Given the description of an element on the screen output the (x, y) to click on. 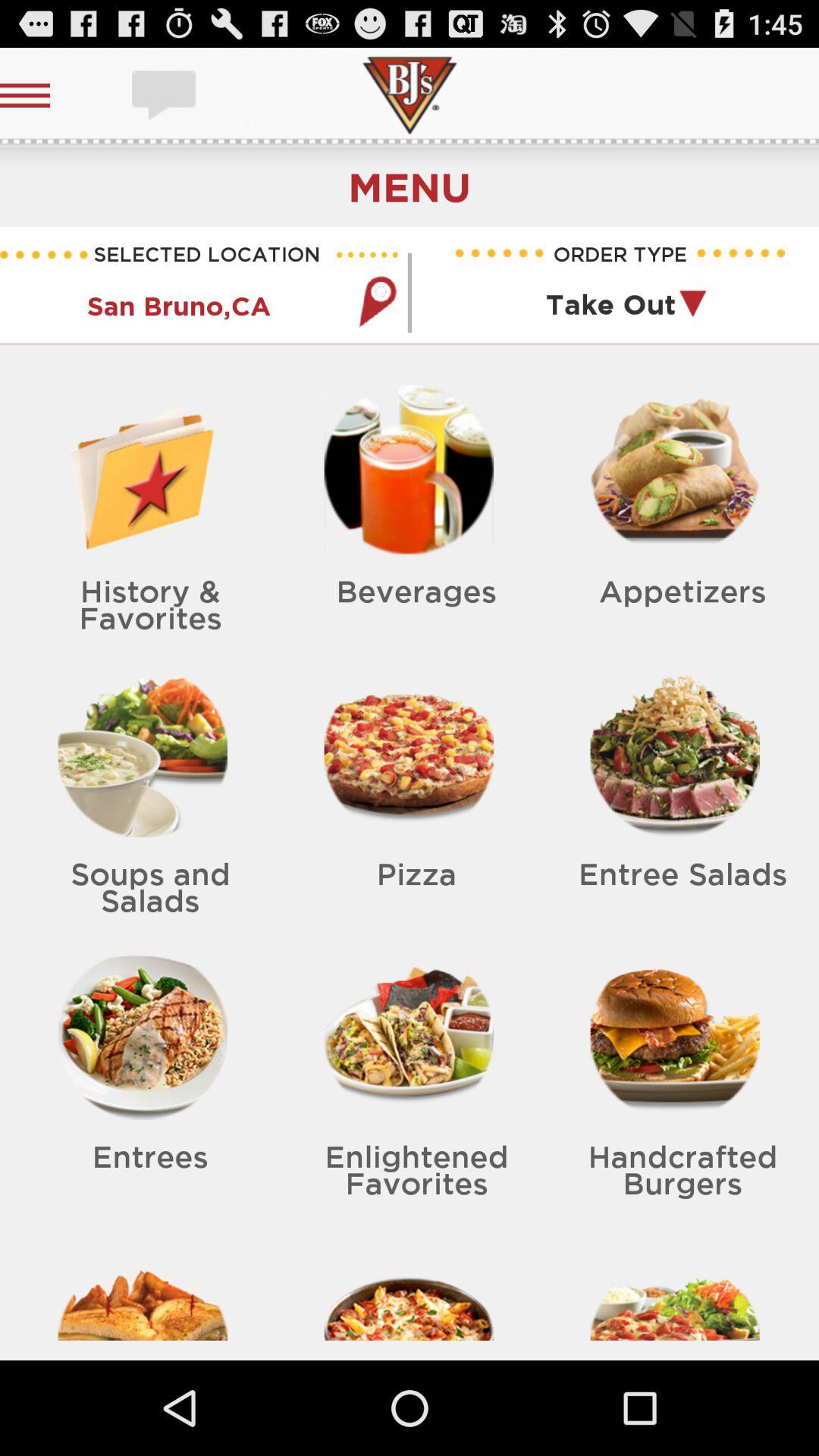
it 's search button (376, 301)
